Given the description of an element on the screen output the (x, y) to click on. 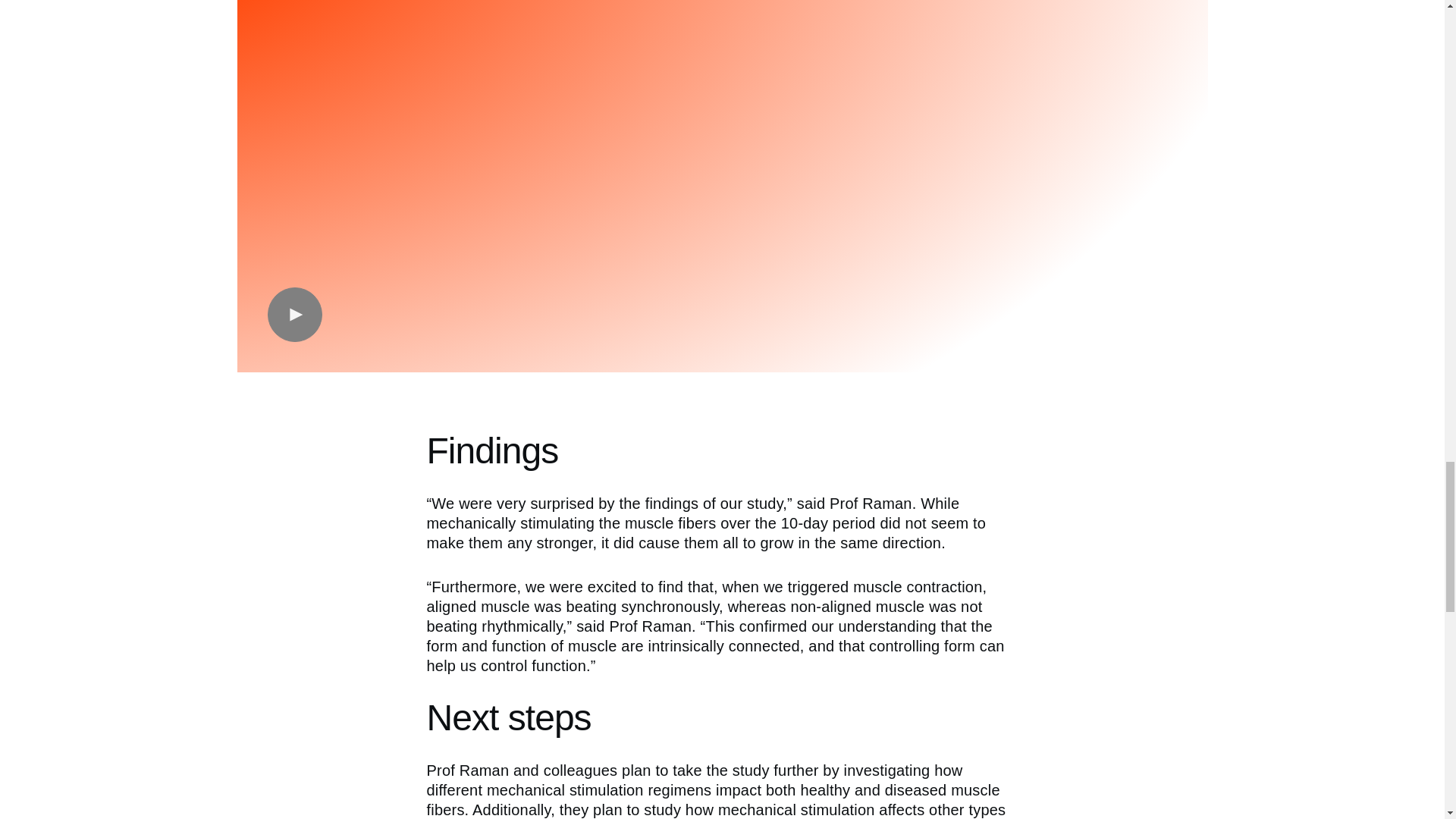
Play (293, 314)
